Given the description of an element on the screen output the (x, y) to click on. 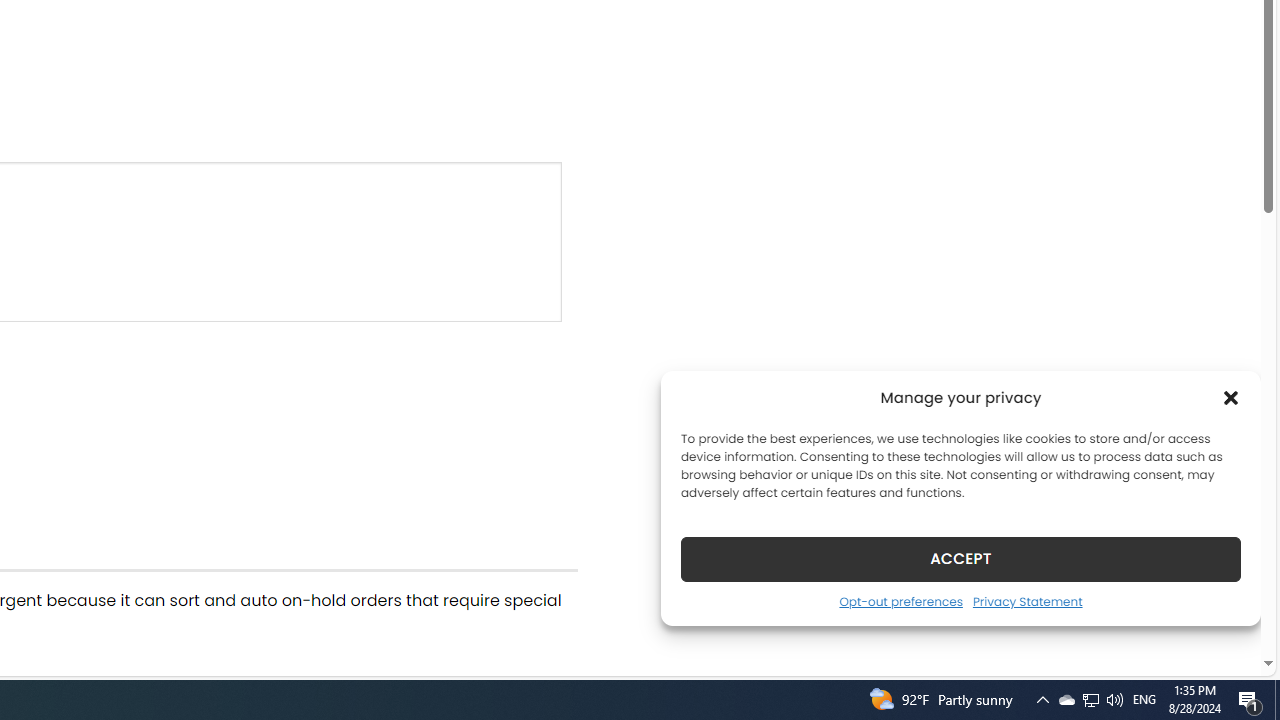
ACCEPT (960, 558)
Opt-out preferences (900, 601)
Privacy Statement (1026, 601)
Class: cmplz-close (1231, 397)
